Given the description of an element on the screen output the (x, y) to click on. 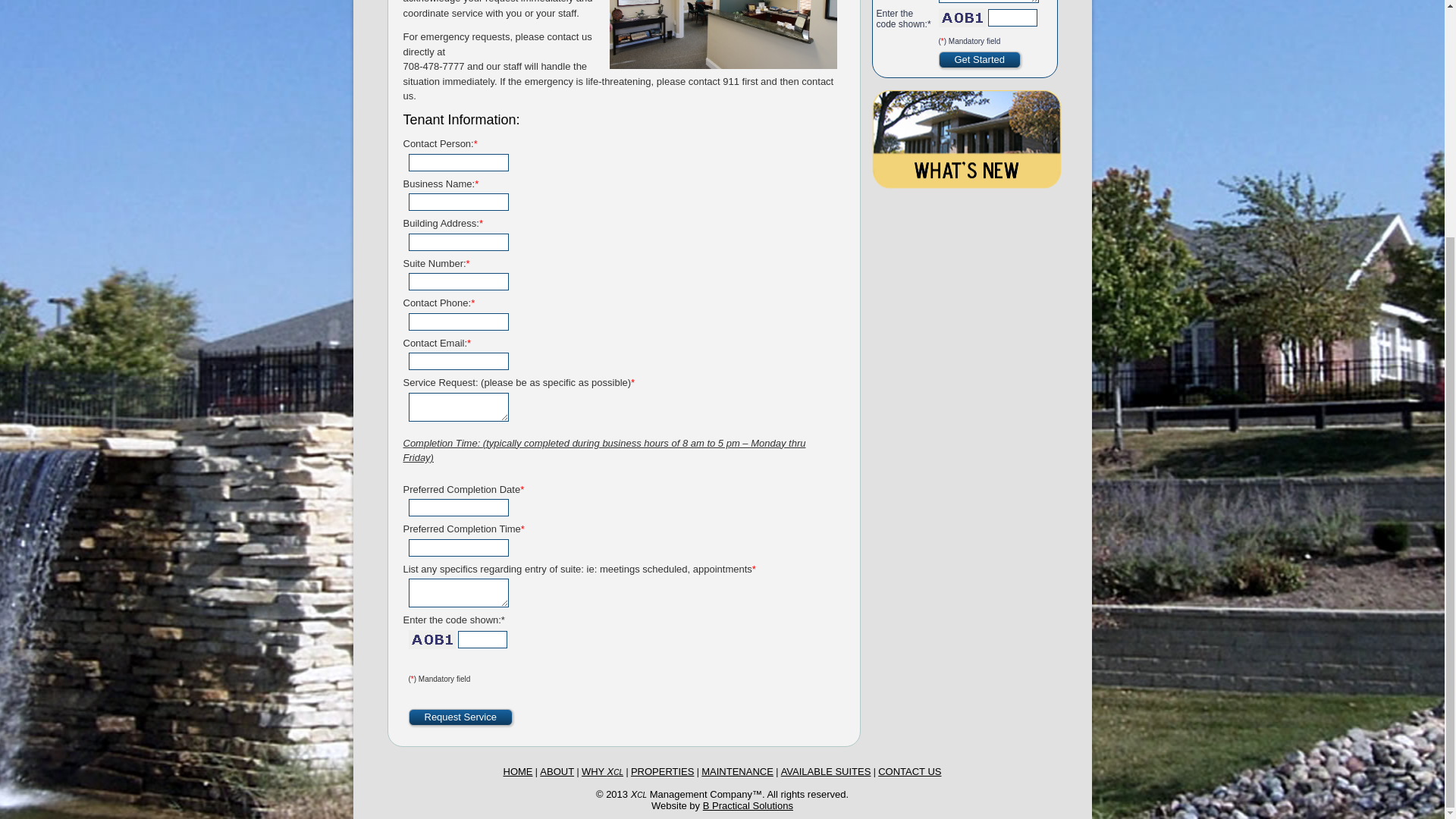
WHY XCL (601, 771)
Get Started (979, 59)
Request Service (459, 717)
AVAILABLE SUITES (825, 771)
ABOUT (556, 771)
HOME (517, 771)
Request Service (459, 717)
PROPERTIES (662, 771)
CONTACT US (908, 771)
B Practical Solutions (748, 805)
Get Started (979, 59)
MAINTENANCE (737, 771)
